Given the description of an element on the screen output the (x, y) to click on. 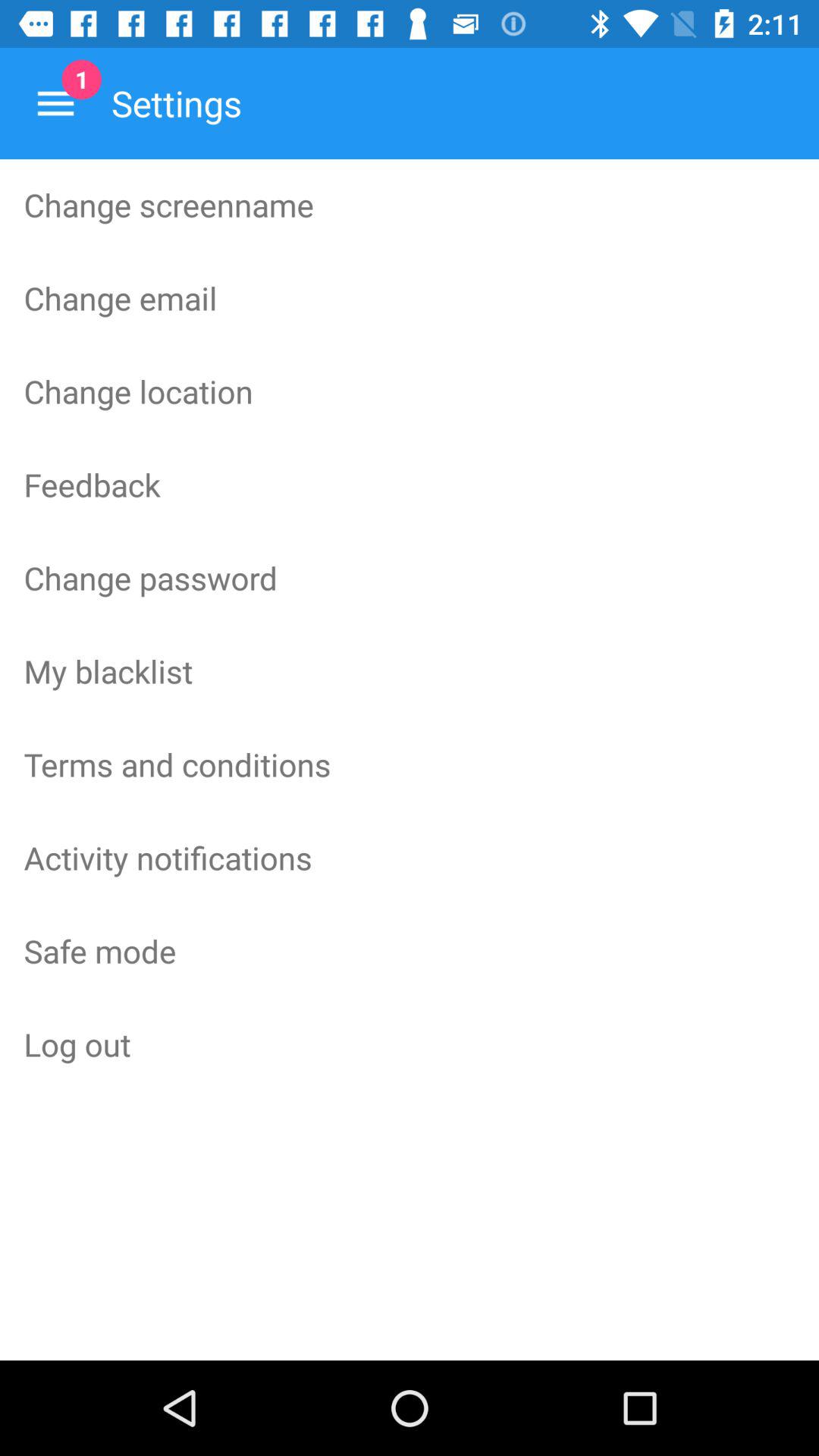
turn on item below the safe mode (409, 1043)
